Given the description of an element on the screen output the (x, y) to click on. 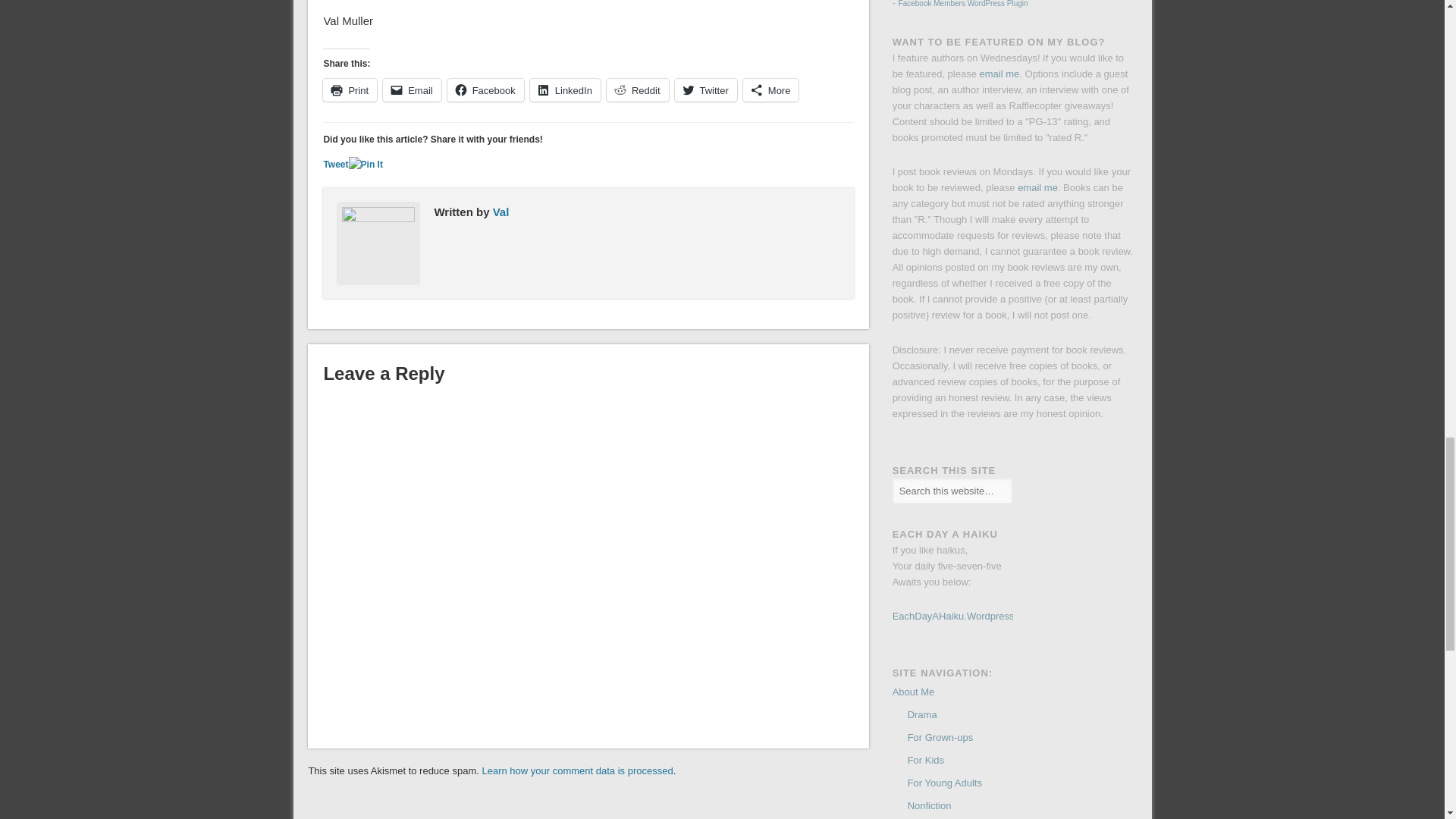
Learn how your comment data is processed (576, 770)
Twitter (705, 89)
Click to share on Twitter (705, 89)
Tweet (335, 163)
LinkedIn (564, 89)
Click to share on Reddit (637, 89)
Posts by Val (501, 211)
Click to email a link to a friend (411, 89)
Reddit (637, 89)
Pin It (365, 164)
Click to share on Facebook (485, 89)
Facebook (485, 89)
Print (350, 89)
Email (411, 89)
